Given the description of an element on the screen output the (x, y) to click on. 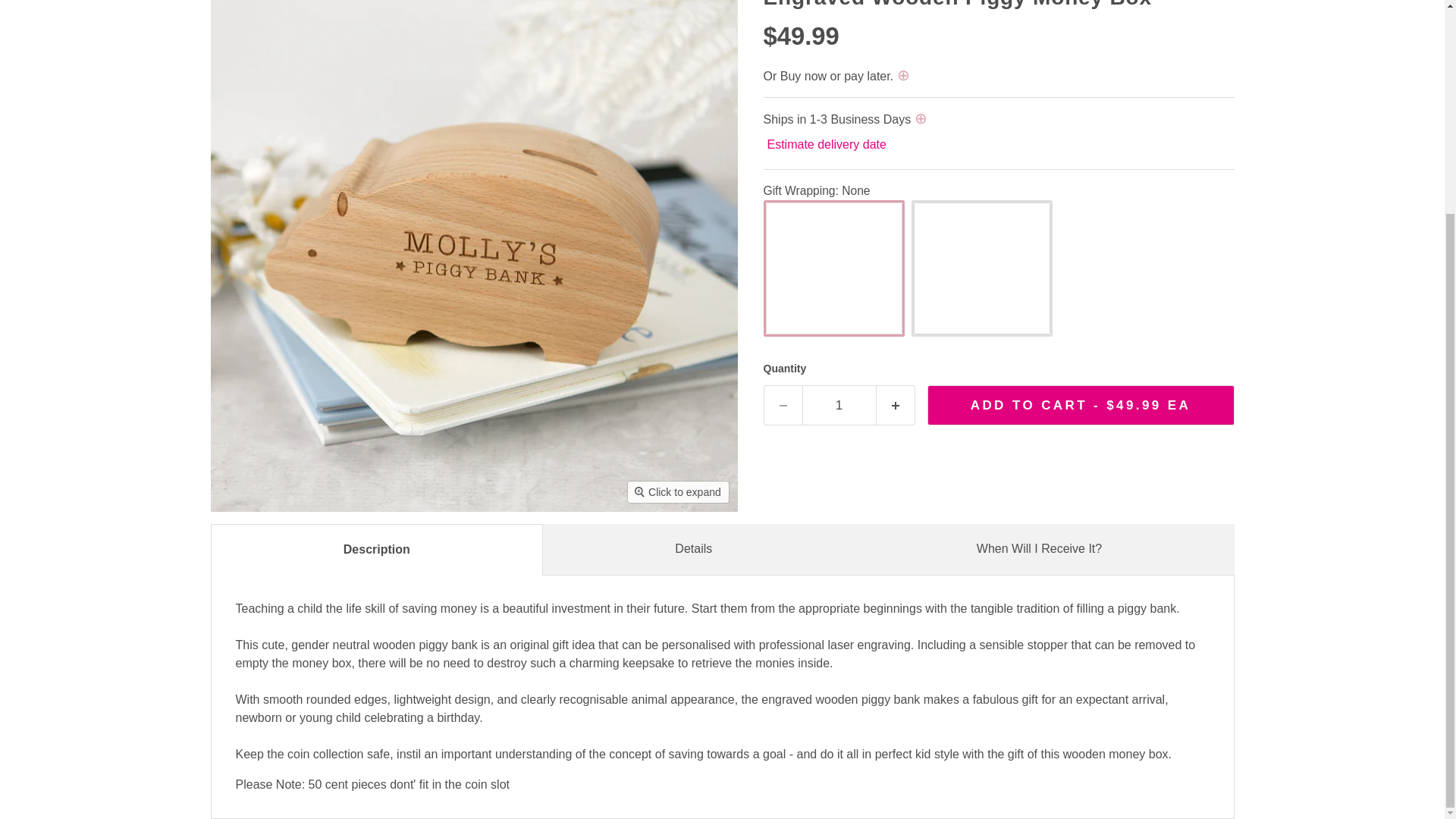
1 (839, 404)
